Given the description of an element on the screen output the (x, y) to click on. 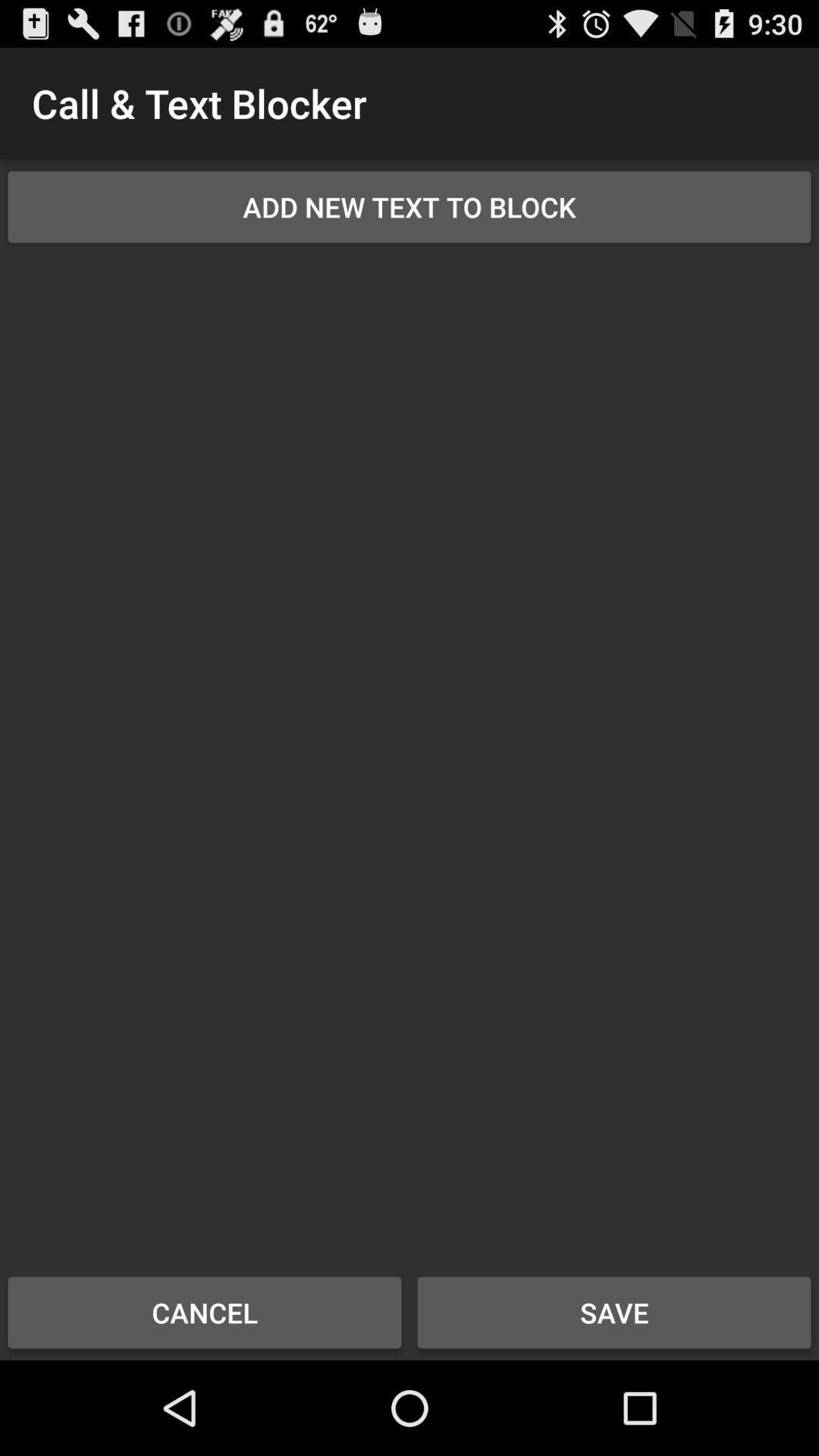
turn on cancel at the bottom left corner (204, 1312)
